Given the description of an element on the screen output the (x, y) to click on. 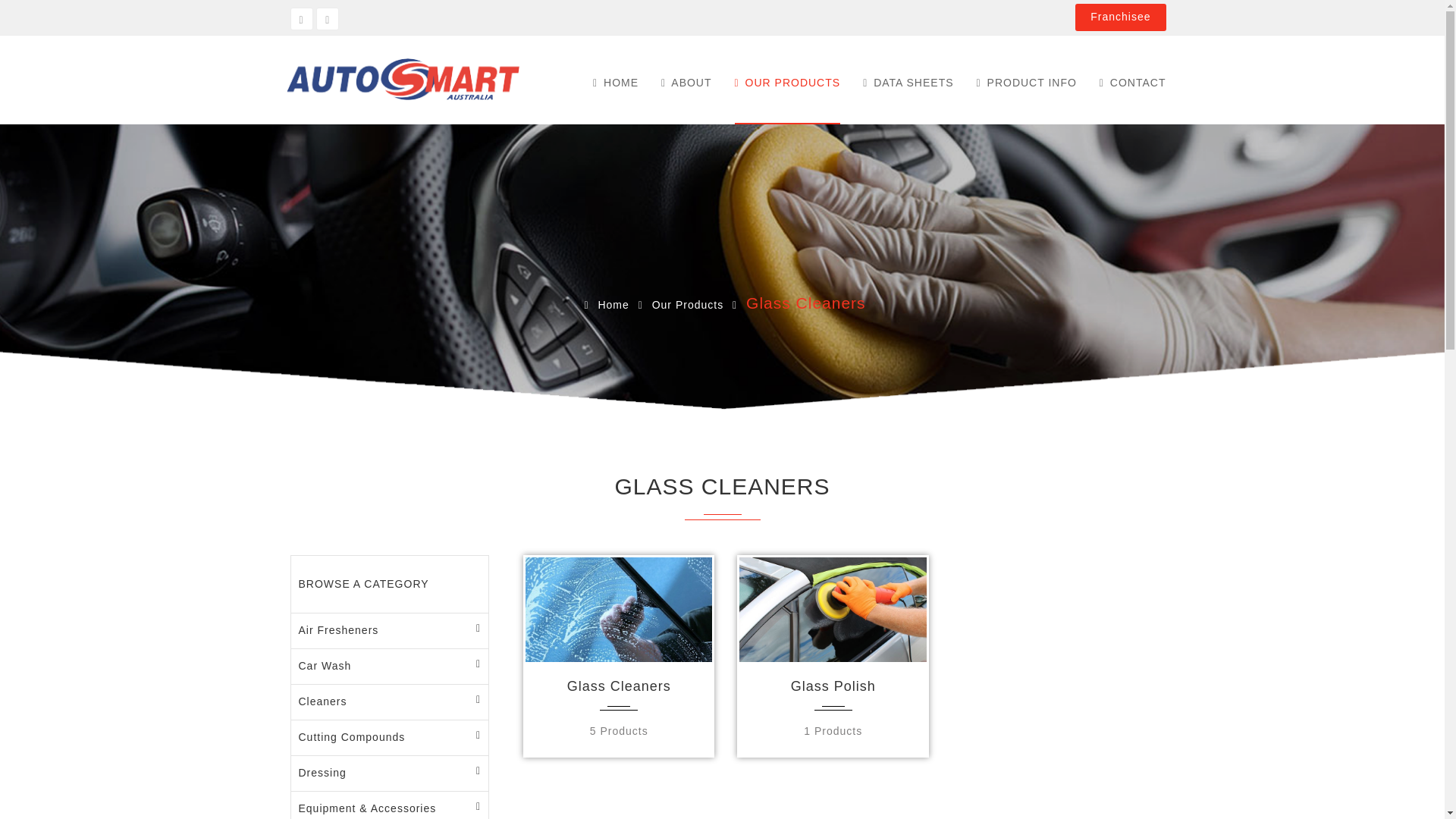
Air Fresheners (390, 631)
Home (603, 304)
CONTACT (1132, 87)
Cutting Compounds (390, 737)
Franchisee (1120, 17)
OUR PRODUCTS (788, 87)
ABOUT (686, 87)
PRODUCT INFO (1026, 87)
Dressing (390, 773)
HOME (615, 87)
Cleaners (390, 702)
Our Products (687, 304)
Car Wash (390, 666)
DATA SHEETS (908, 87)
